Given the description of an element on the screen output the (x, y) to click on. 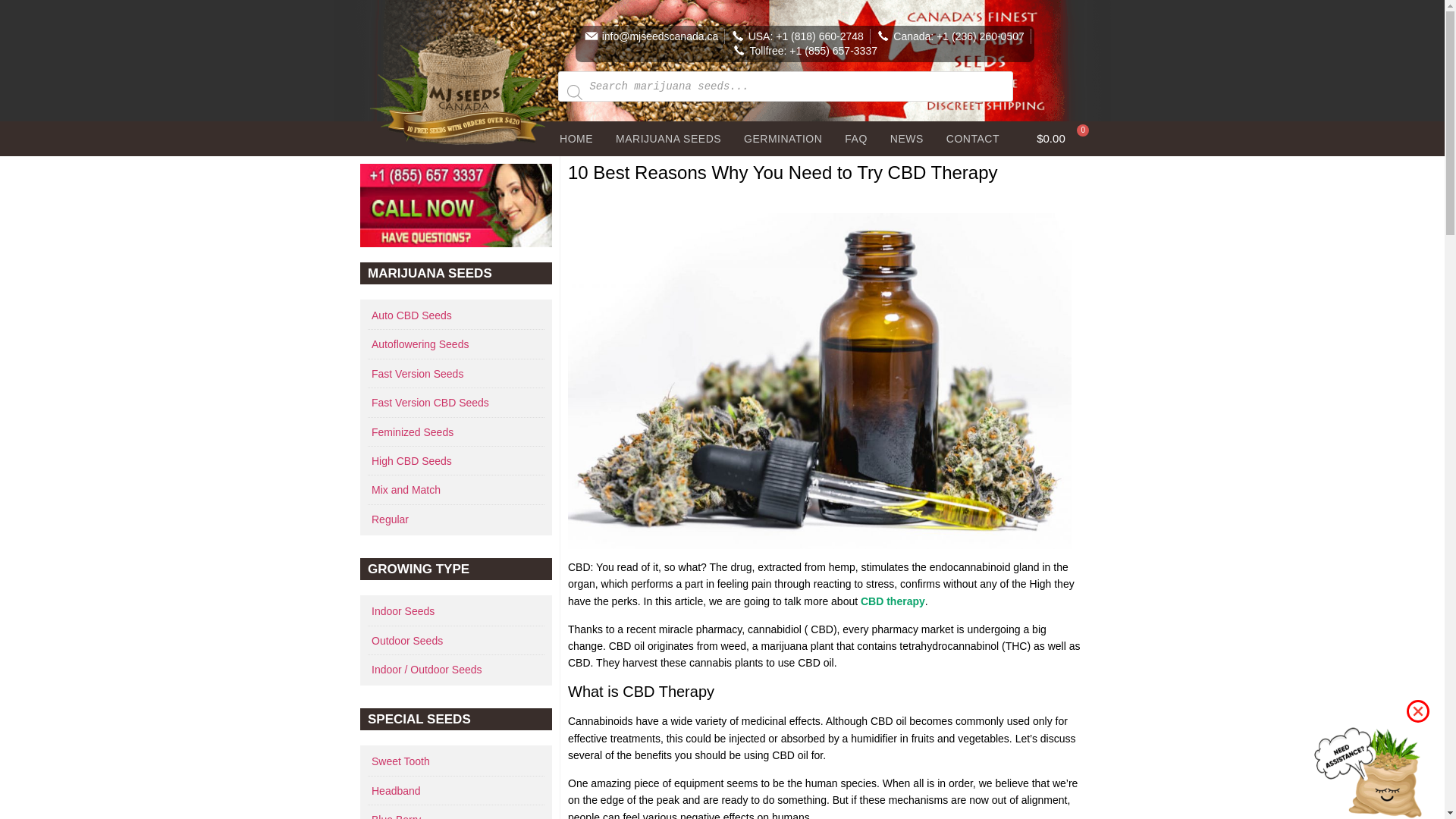
GERMINATION (782, 138)
NEWS (906, 138)
mjseedsca-logo-footer (464, 87)
CONTACT (972, 138)
MARIJUANA SEEDS (668, 138)
HOME (576, 138)
mjsc-live-chat-sidebar (455, 205)
FAQ (855, 138)
